Given the description of an element on the screen output the (x, y) to click on. 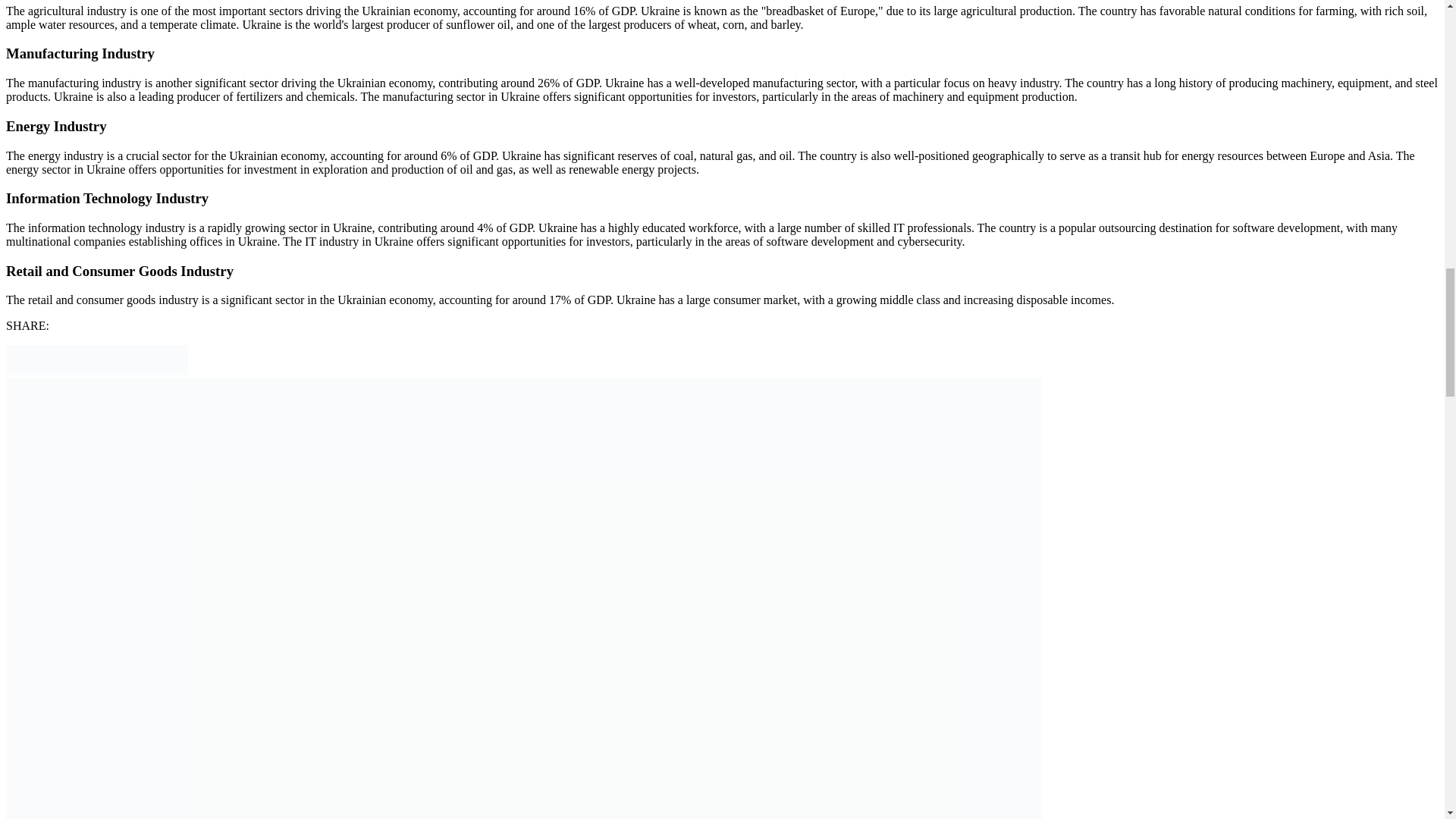
Telegram (112, 370)
WhatsApp (172, 370)
Email (20, 370)
Twitter (51, 370)
Viber (142, 370)
Facebook (81, 370)
